Given the description of an element on the screen output the (x, y) to click on. 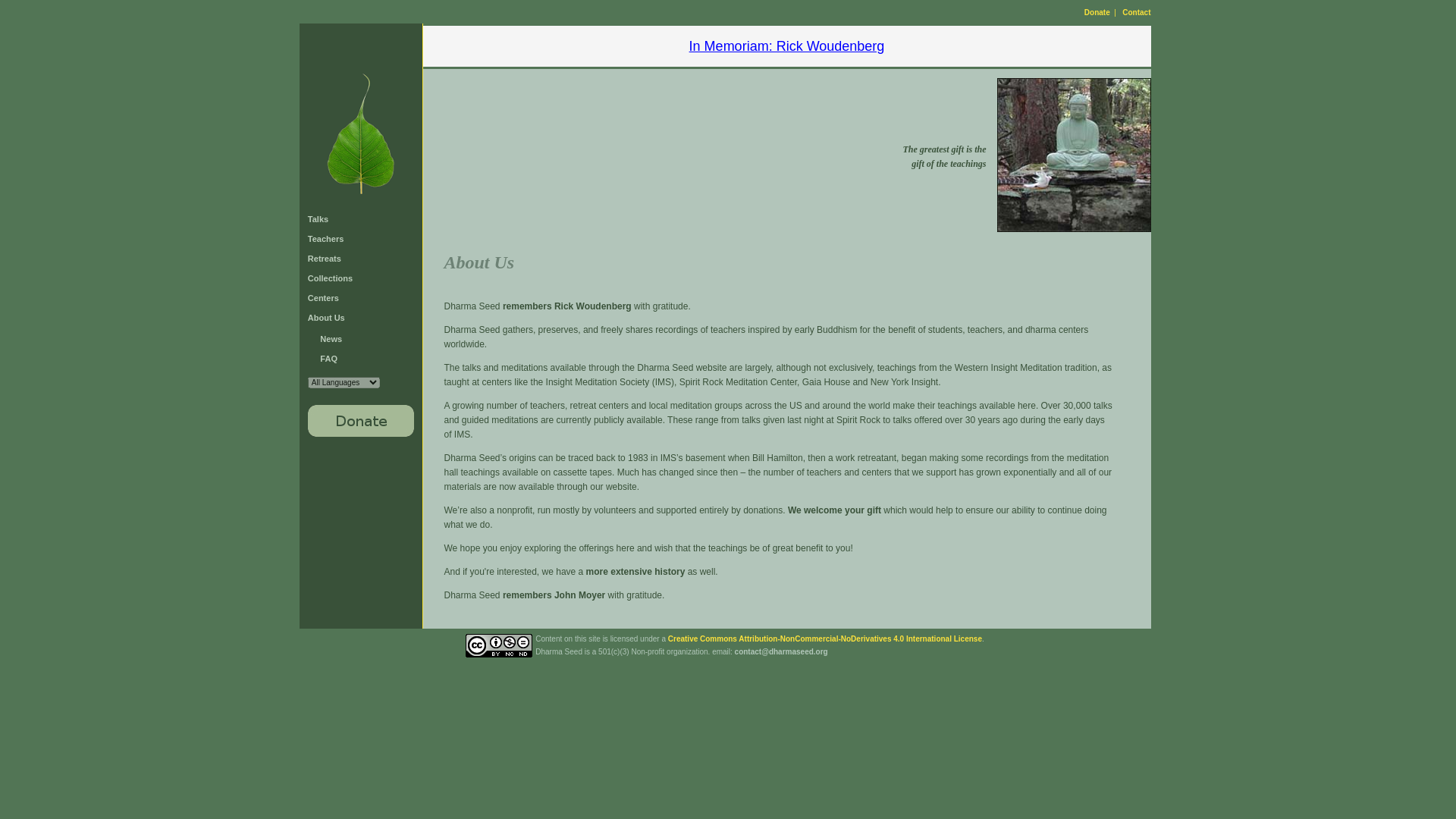
FAQ (328, 358)
Contact (1136, 11)
remembers John Moyer (553, 594)
Centers (323, 297)
more extensive history (635, 571)
About Us (326, 317)
Teachers (325, 238)
Retreats (323, 257)
Collections (329, 277)
In Memoriam: Rick Woudenberg (786, 46)
